Given the description of an element on the screen output the (x, y) to click on. 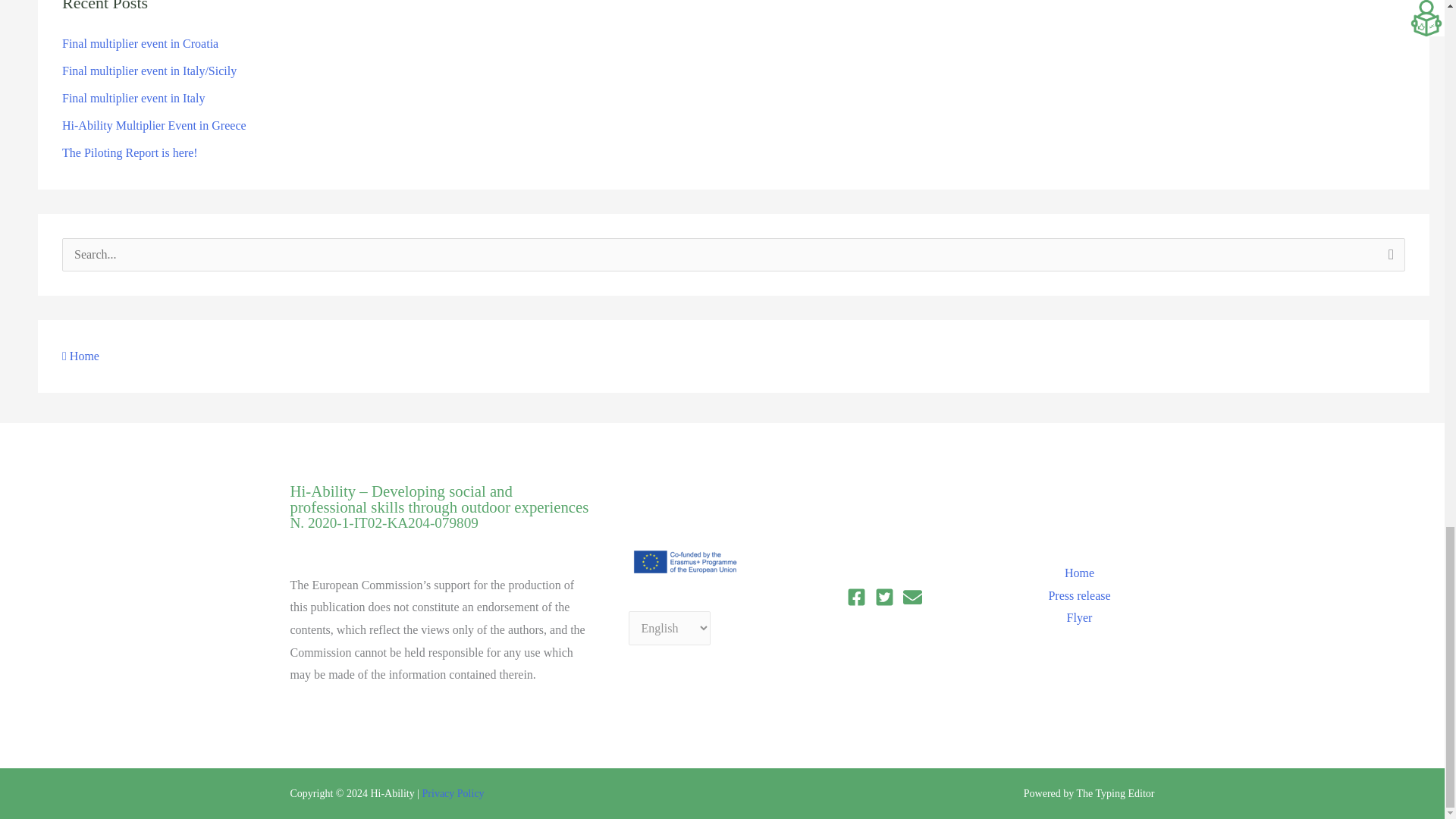
Hi-Ability Multiplier Event in Greece (154, 124)
Final multiplier event in Croatia (140, 42)
The Piloting Report is here! (130, 152)
Final multiplier event in Italy (133, 97)
